Given the description of an element on the screen output the (x, y) to click on. 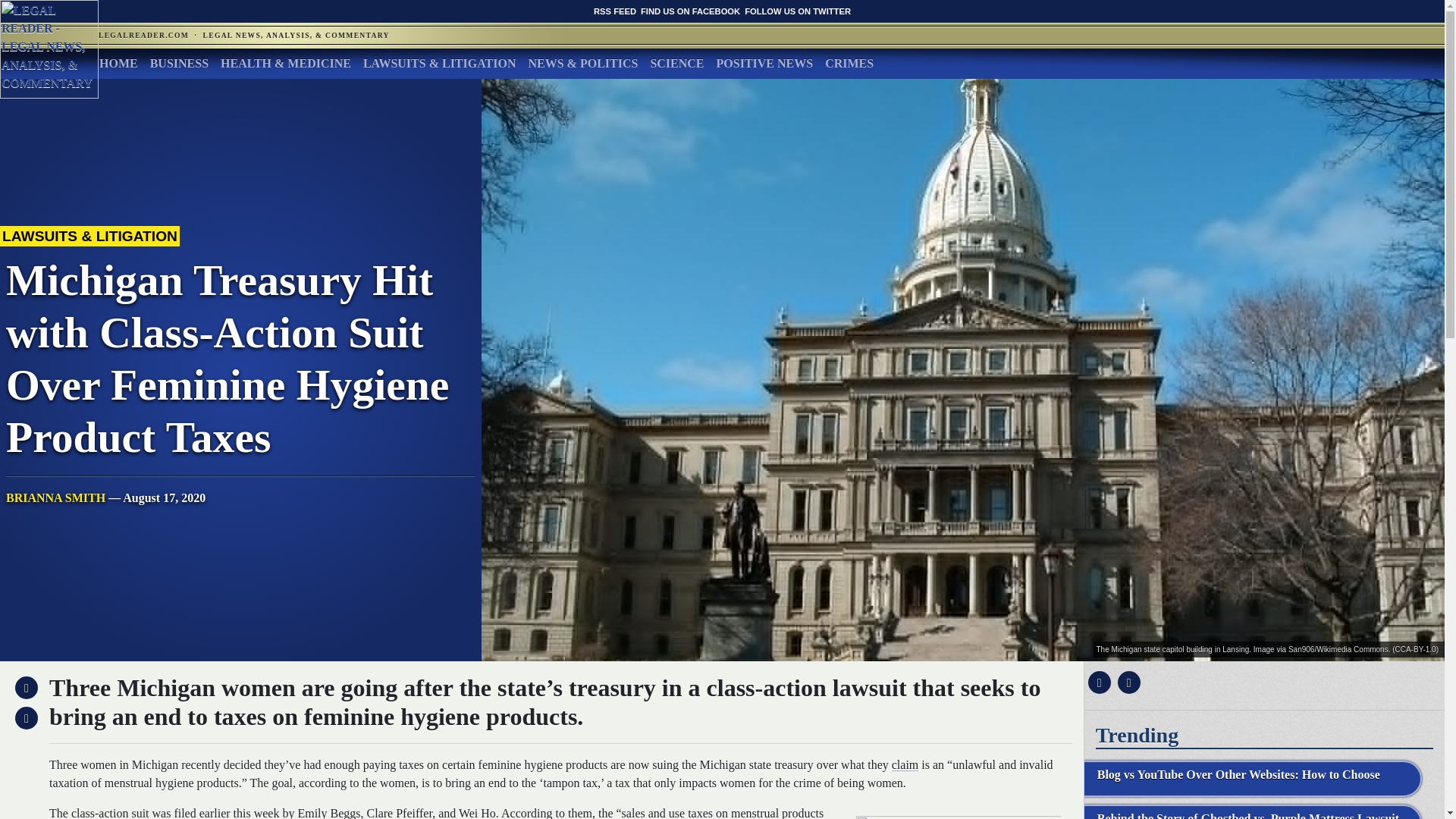
FOLLOW US ON TWITTER (797, 10)
Science (676, 63)
According to them (546, 812)
POSITIVE NEWS (764, 63)
Follow Legal Reader on Twitter (797, 10)
BUSINESS (179, 63)
claim (904, 764)
Business (179, 63)
HOME (118, 63)
FIND US ON FACEBOOK (689, 10)
Legal Reader News Feed (615, 10)
Share on twitter (1126, 682)
Share on facebook (1097, 682)
Find Legal Reader on Facebook (689, 10)
Home (118, 63)
